Given the description of an element on the screen output the (x, y) to click on. 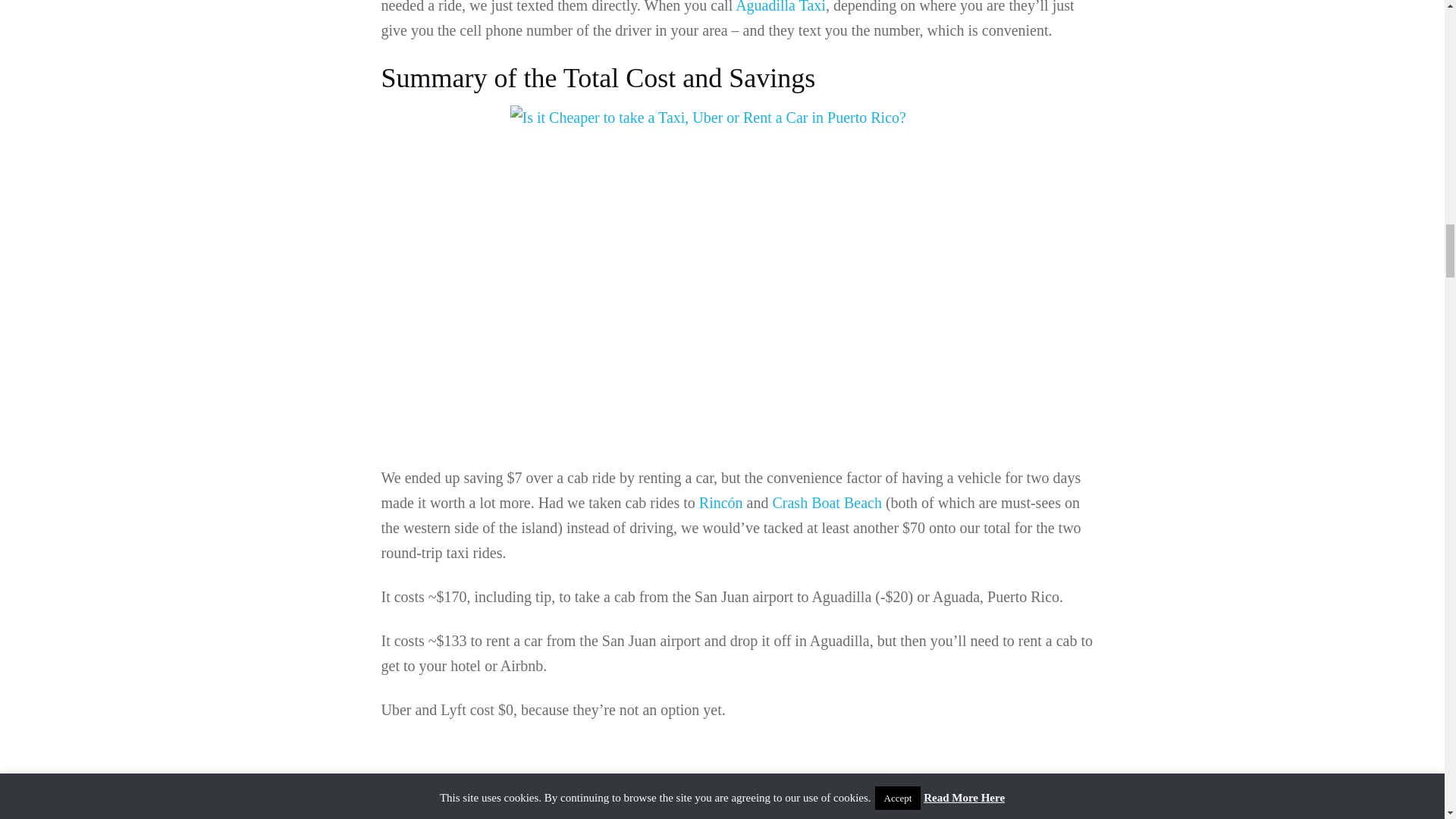
Crash Boat Beach (825, 502)
Aguadilla Taxi (780, 6)
